Given the description of an element on the screen output the (x, y) to click on. 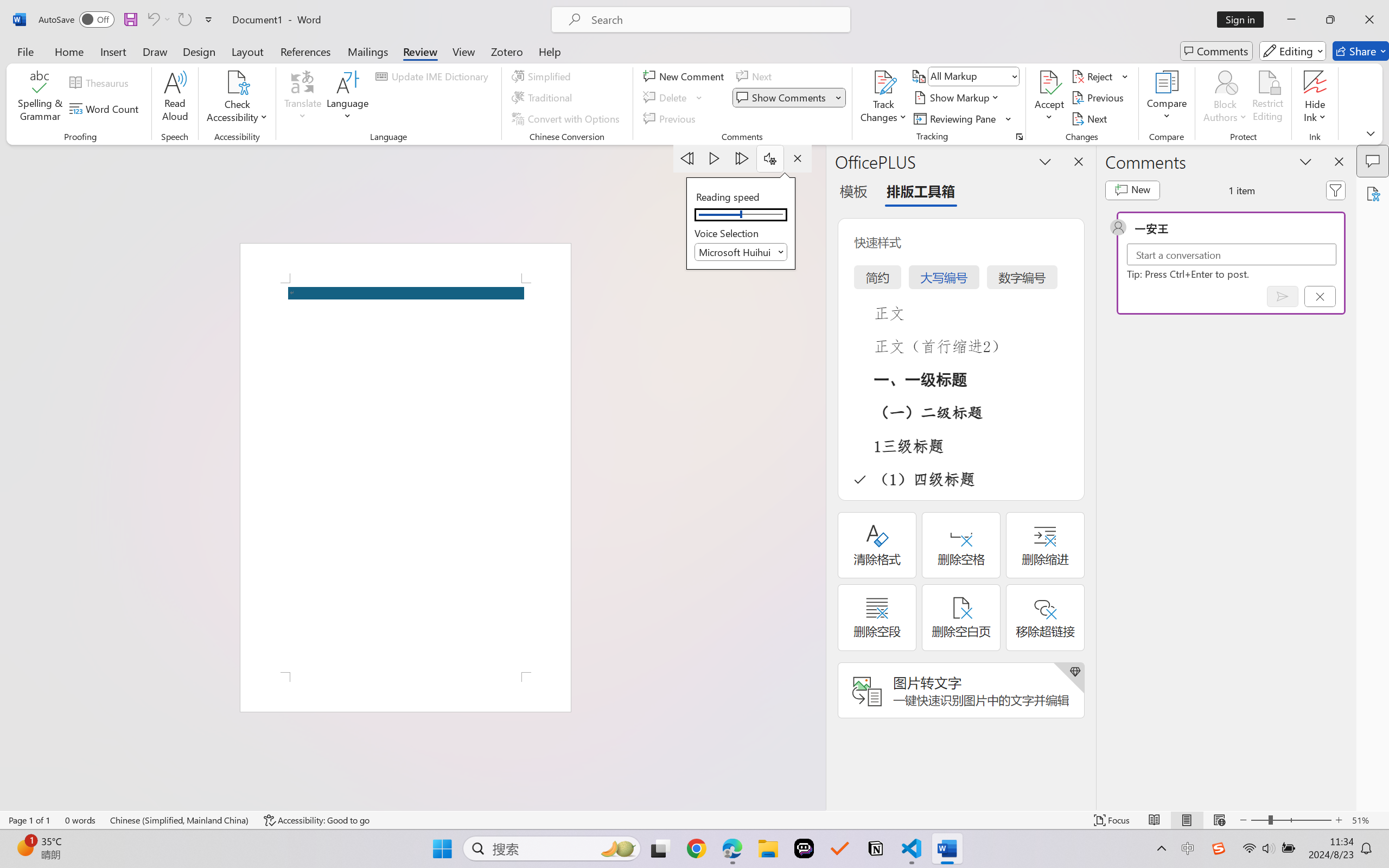
Read Aloud (174, 97)
Thesaurus... (101, 82)
Cancel (1320, 296)
Traditional (543, 97)
Repeat Accessibility Checker (184, 19)
Block Authors (1224, 81)
